Given the description of an element on the screen output the (x, y) to click on. 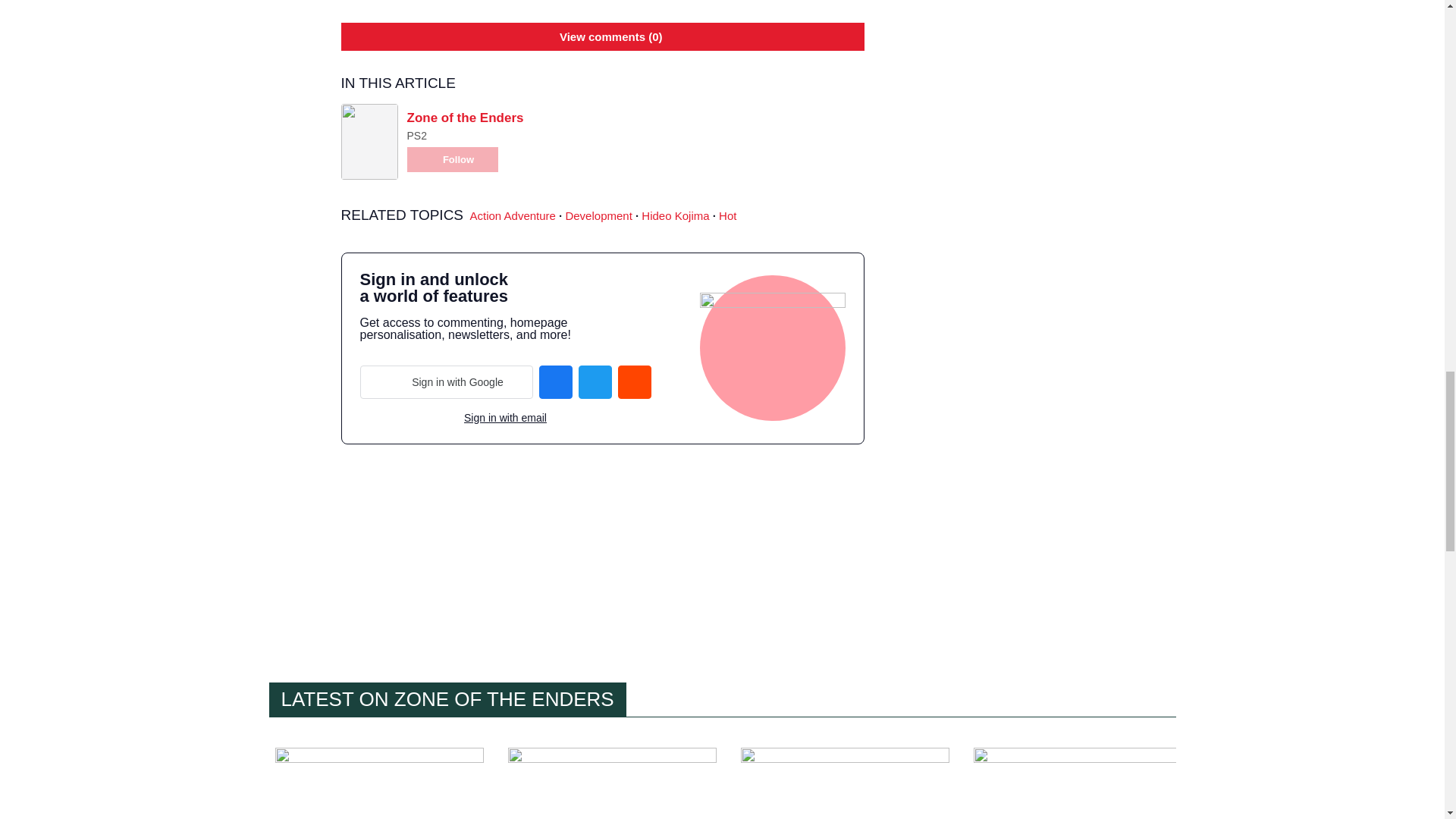
Zone of the Enders (464, 117)
Follow (451, 159)
Follow Zone of the Enders (451, 159)
Development (597, 215)
Action Adventure (513, 215)
Hideo Kojima (675, 215)
